Given the description of an element on the screen output the (x, y) to click on. 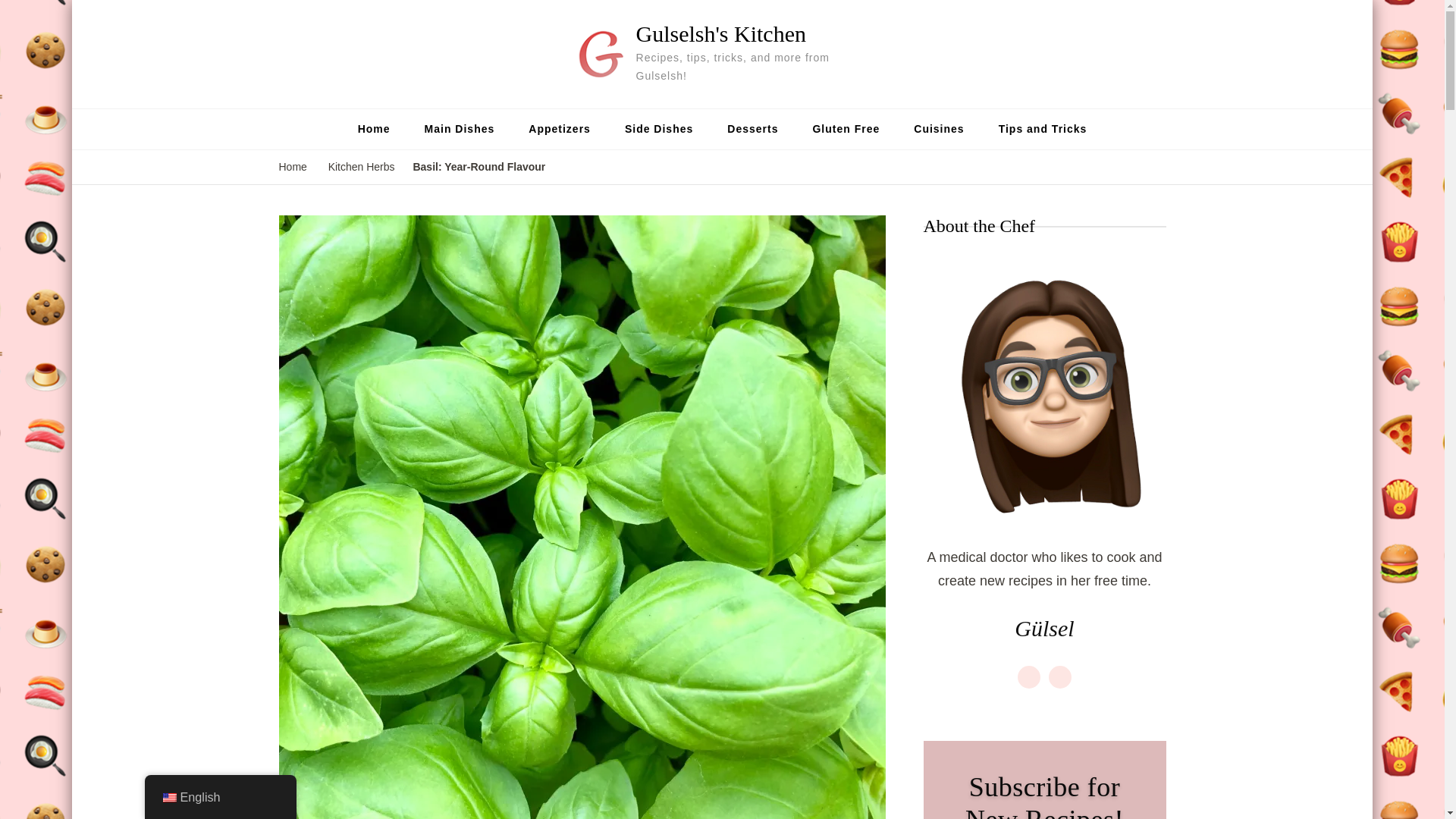
Gluten Free (845, 128)
Gulselsh's Kitchen (721, 33)
Side Dishes (658, 128)
Desserts (752, 128)
Home (374, 128)
Tips and Tricks (1043, 128)
Cuisines (938, 128)
Appetizers (559, 128)
Main Dishes (460, 128)
